Given the description of an element on the screen output the (x, y) to click on. 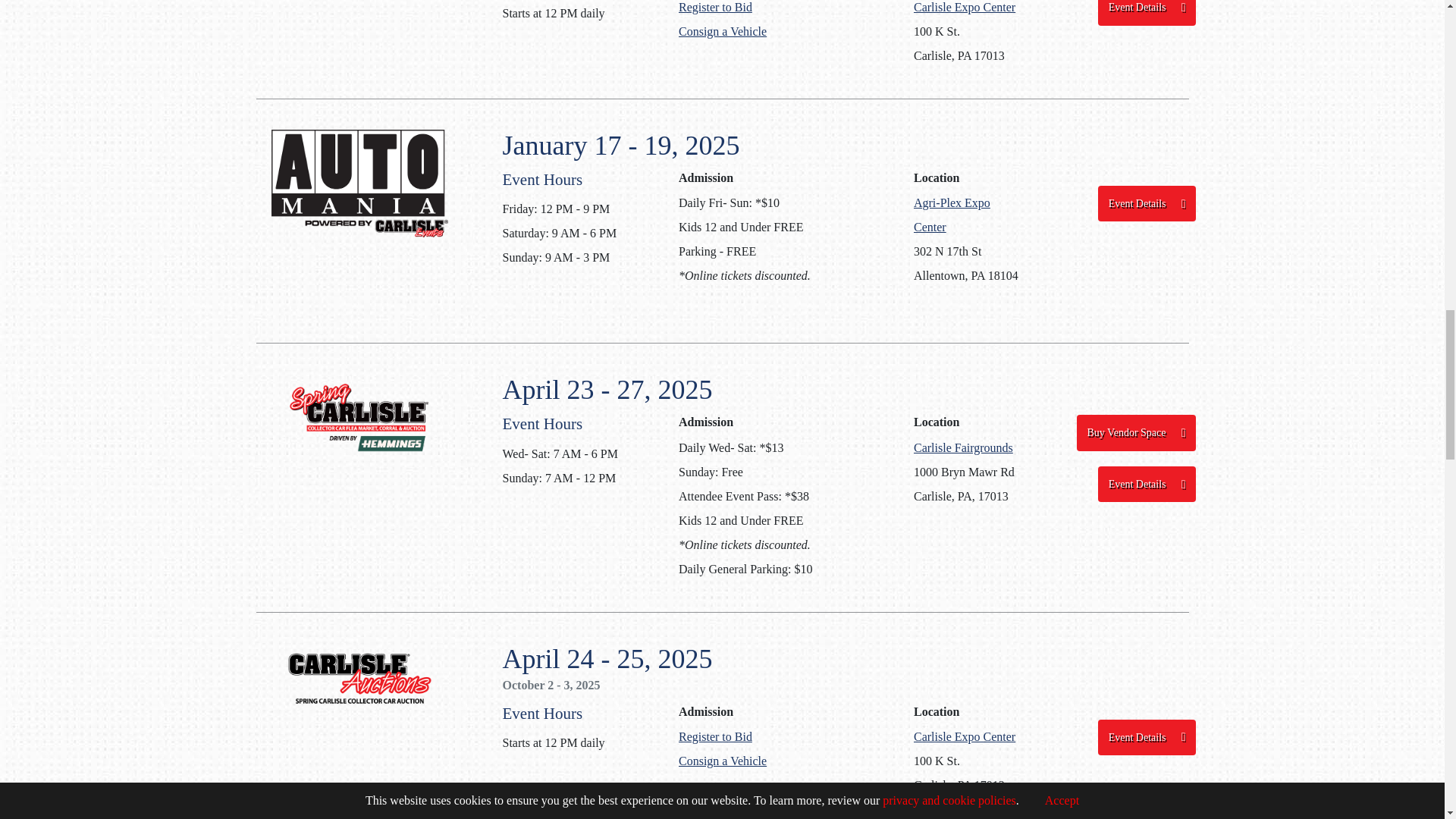
Spring Carlisle Collector Car Auction (359, 678)
